Given the description of an element on the screen output the (x, y) to click on. 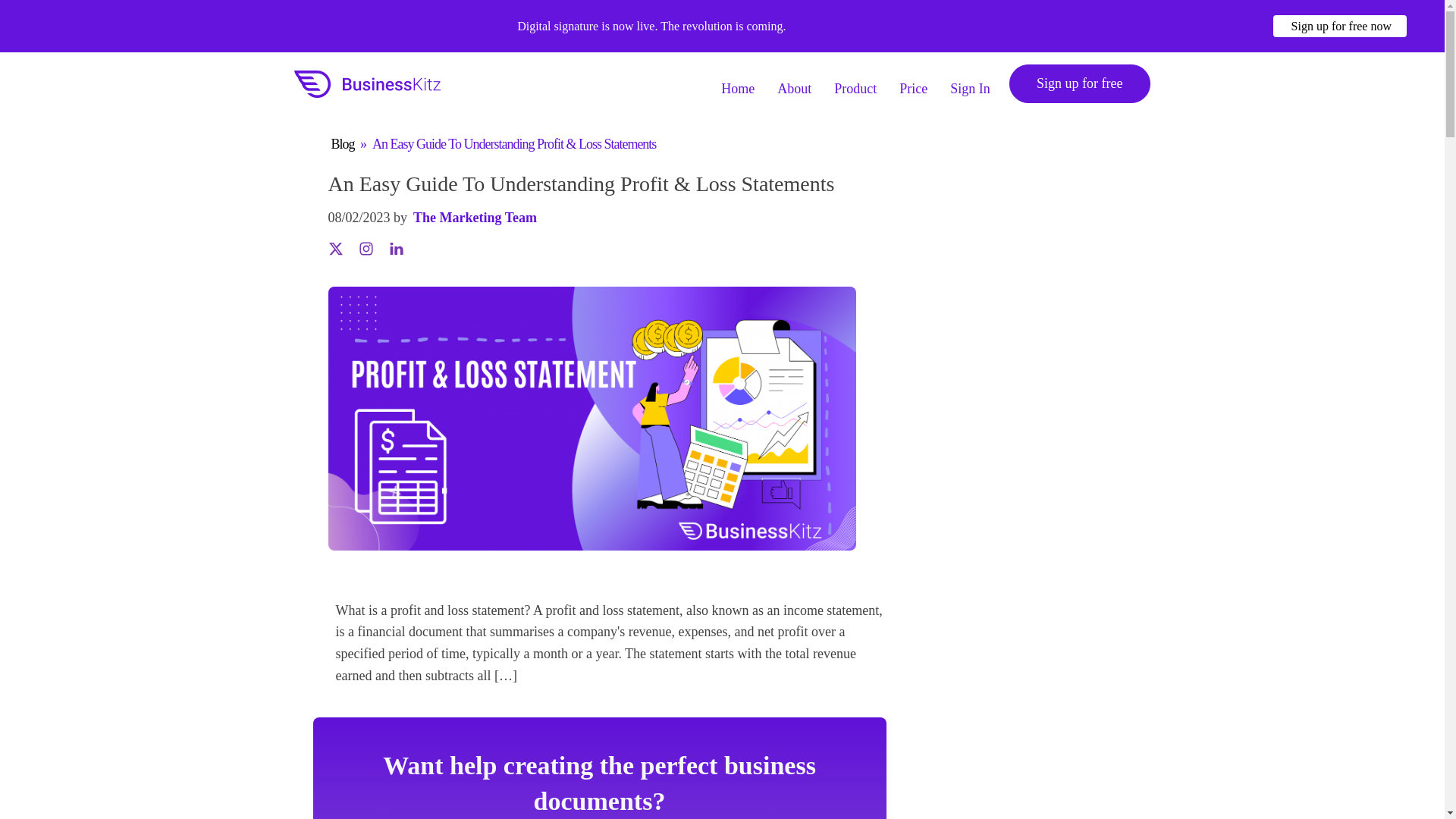
Sign In (970, 83)
Sign up for free (1079, 83)
Home (737, 83)
The Marketing Team (475, 218)
Price (913, 83)
Product (854, 83)
About (794, 83)
Breadcrumb link to Blog (341, 143)
Blog (341, 143)
